Given the description of an element on the screen output the (x, y) to click on. 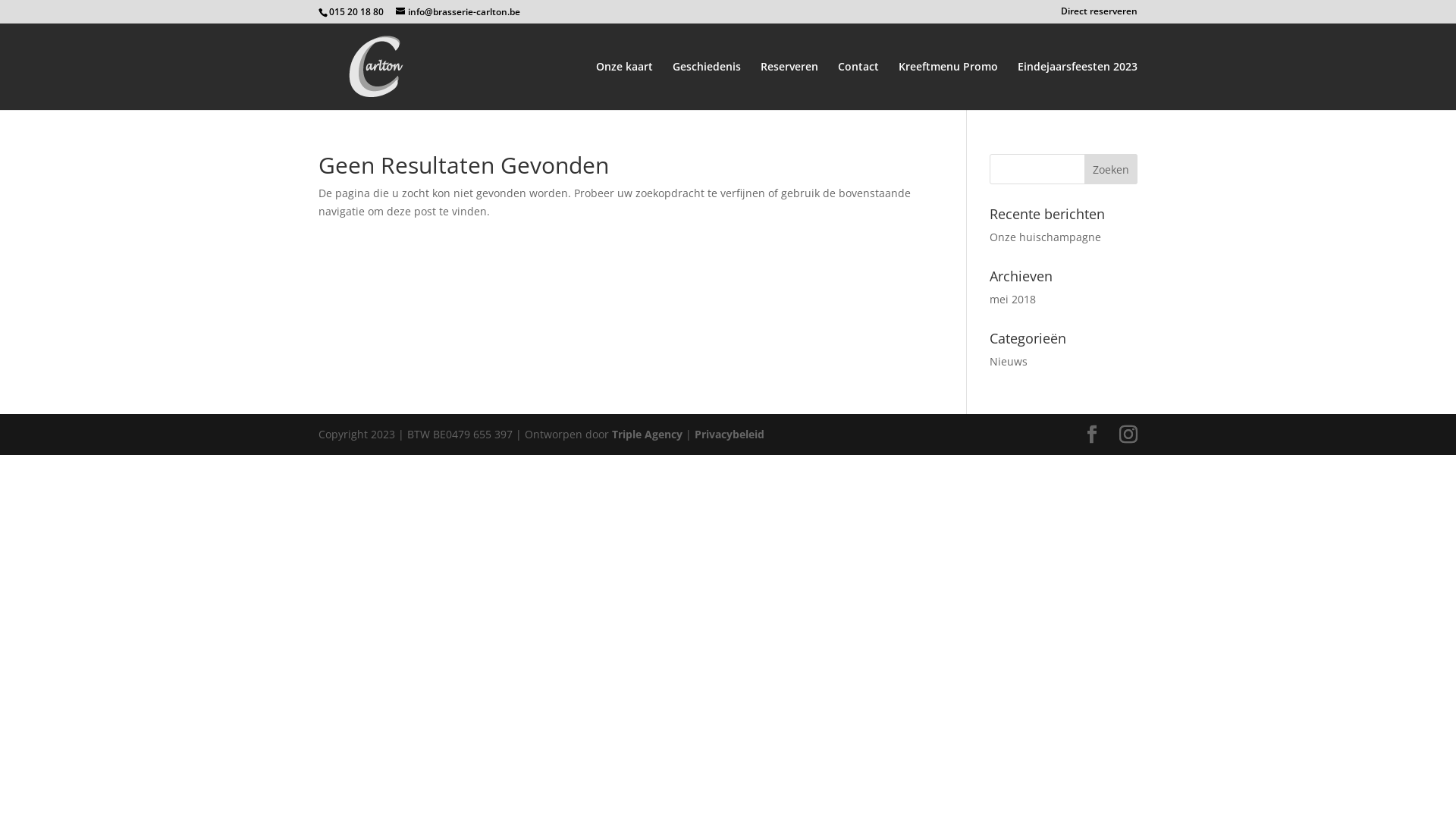
info@brasserie-carlton.be Element type: text (457, 11)
Onze kaart Element type: text (624, 85)
Nieuws Element type: text (1008, 361)
Zoeken Element type: text (1110, 168)
Direct reserveren Element type: text (1098, 14)
Eindejaarsfeesten 2023 Element type: text (1077, 85)
Privacybeleid Element type: text (729, 433)
mei 2018 Element type: text (1012, 298)
Contact Element type: text (857, 85)
Onze huischampagne Element type: text (1045, 236)
Reserveren Element type: text (789, 85)
Triple Agency Element type: text (648, 433)
Geschiedenis Element type: text (706, 85)
Kreeftmenu Promo Element type: text (947, 85)
